Given the description of an element on the screen output the (x, y) to click on. 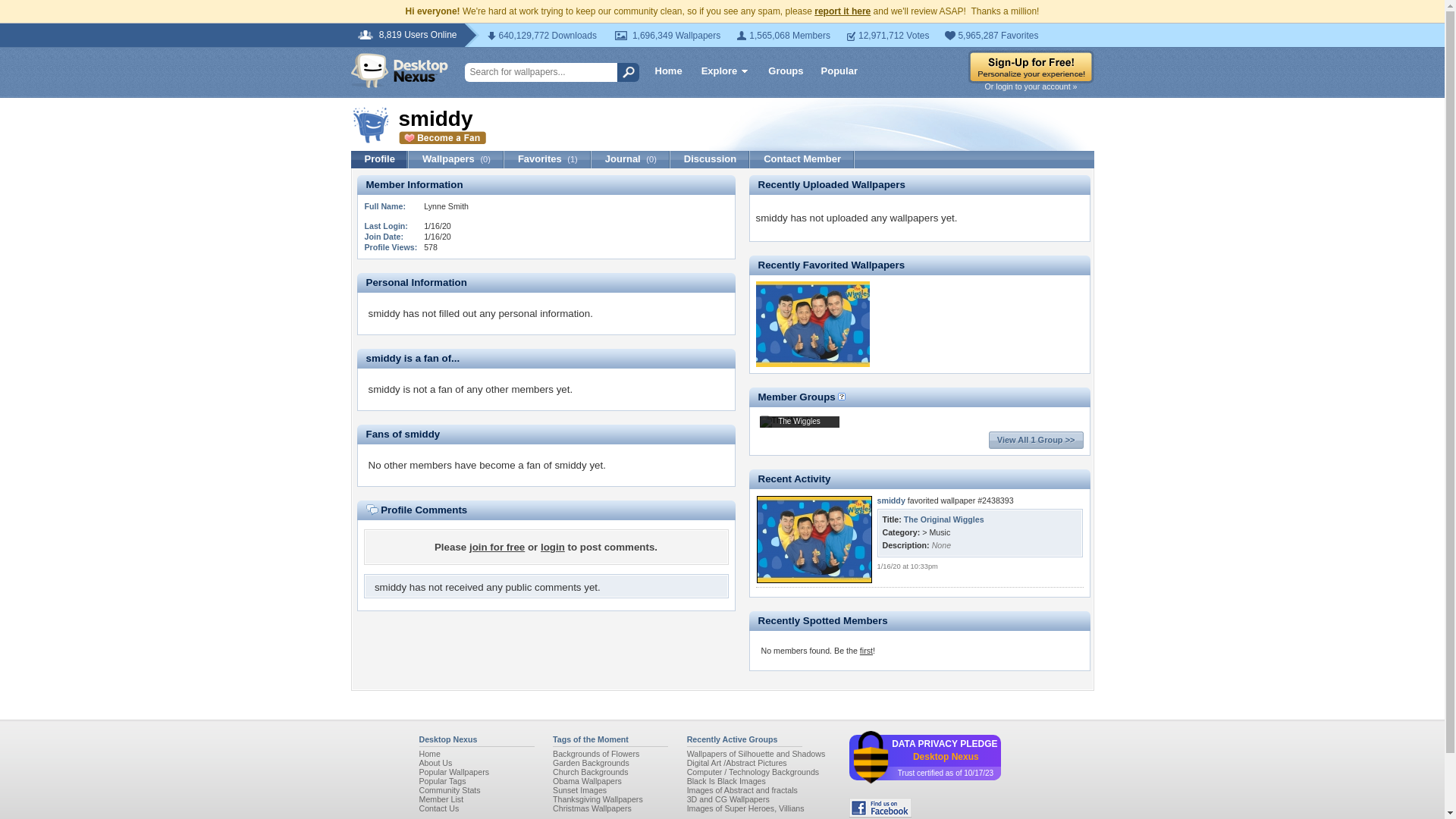
Home (668, 70)
Discussion (709, 159)
Profile (378, 159)
Explore (725, 72)
Contact Member (801, 159)
join for free (496, 546)
The Wiggles (800, 421)
Groups (785, 70)
Search for wallpapers... (546, 72)
report it here (841, 10)
The Original Wiggles (812, 363)
Popular (838, 70)
Desktop Nexus Wallpapers (398, 70)
Desktop Nexus Wallpapers (398, 70)
login (552, 546)
